Given the description of an element on the screen output the (x, y) to click on. 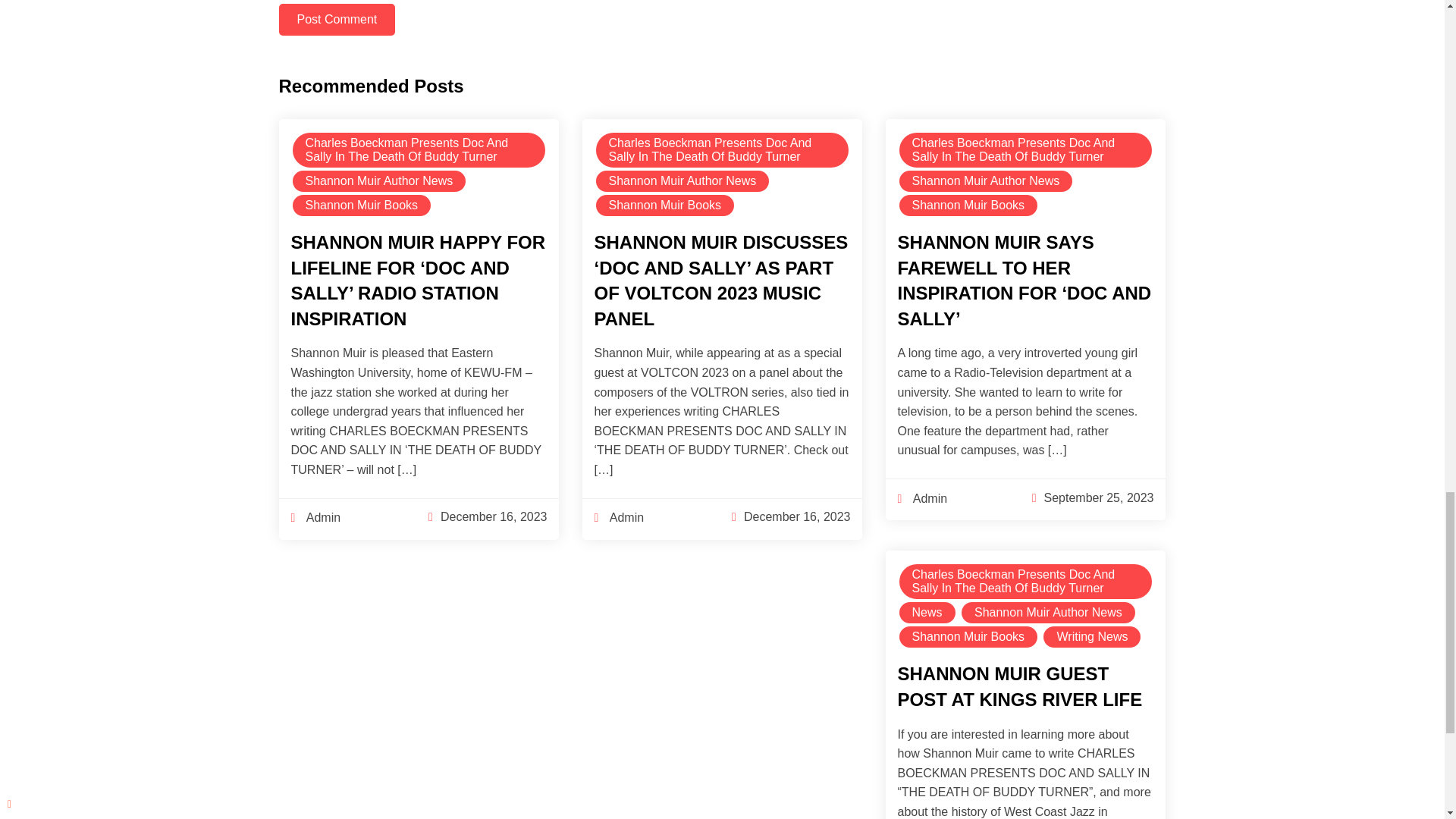
Admin (315, 516)
Shannon Muir Author News (379, 180)
Shannon Muir Books (361, 205)
Admin (619, 516)
Shannon Muir Author News (682, 180)
December 16, 2023 (797, 516)
Shannon Muir Books (665, 205)
December 16, 2023 (494, 516)
Post Comment (337, 20)
Shannon Muir Author News (986, 180)
